Given the description of an element on the screen output the (x, y) to click on. 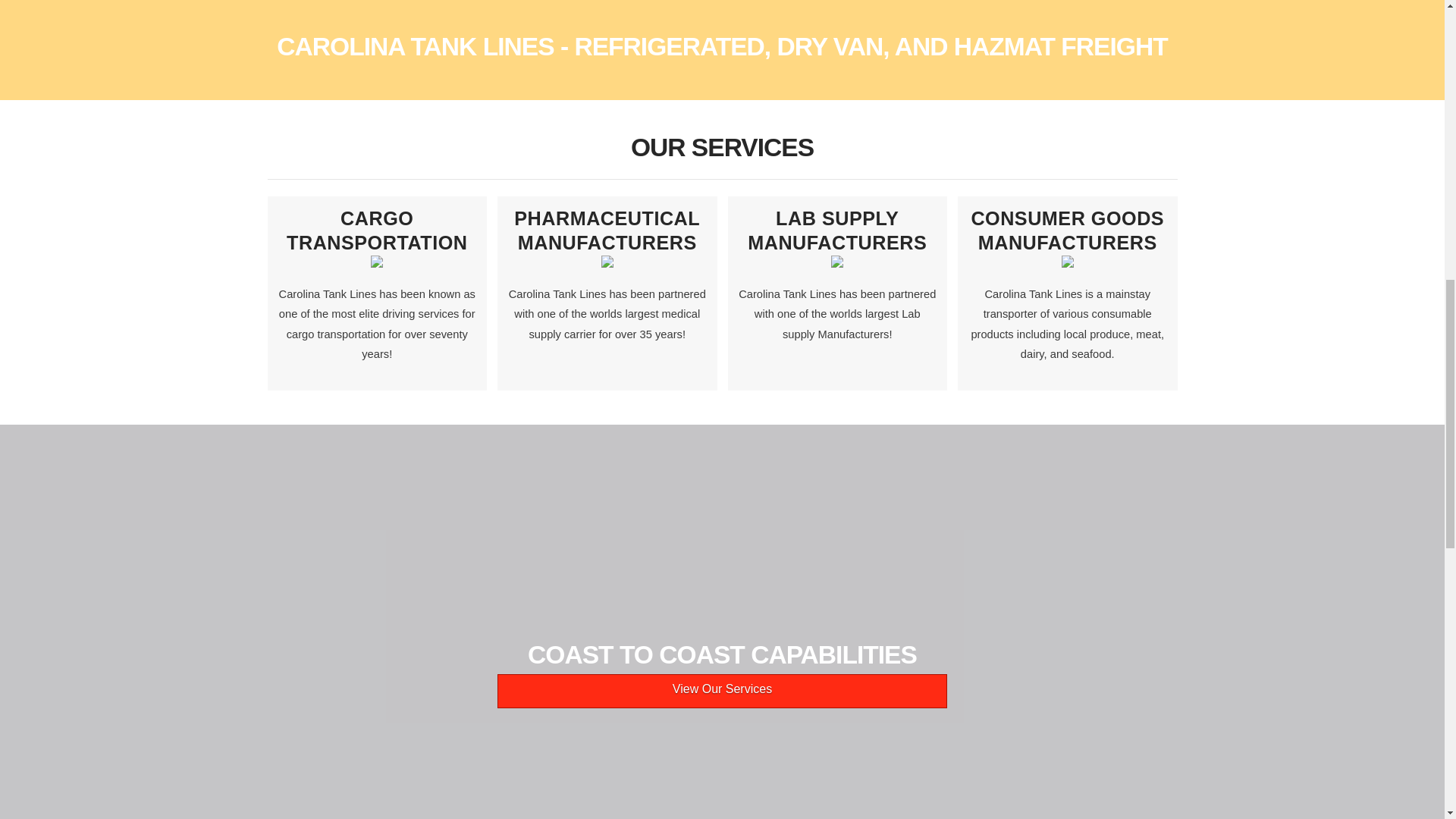
View Our Services (722, 691)
